Given the description of an element on the screen output the (x, y) to click on. 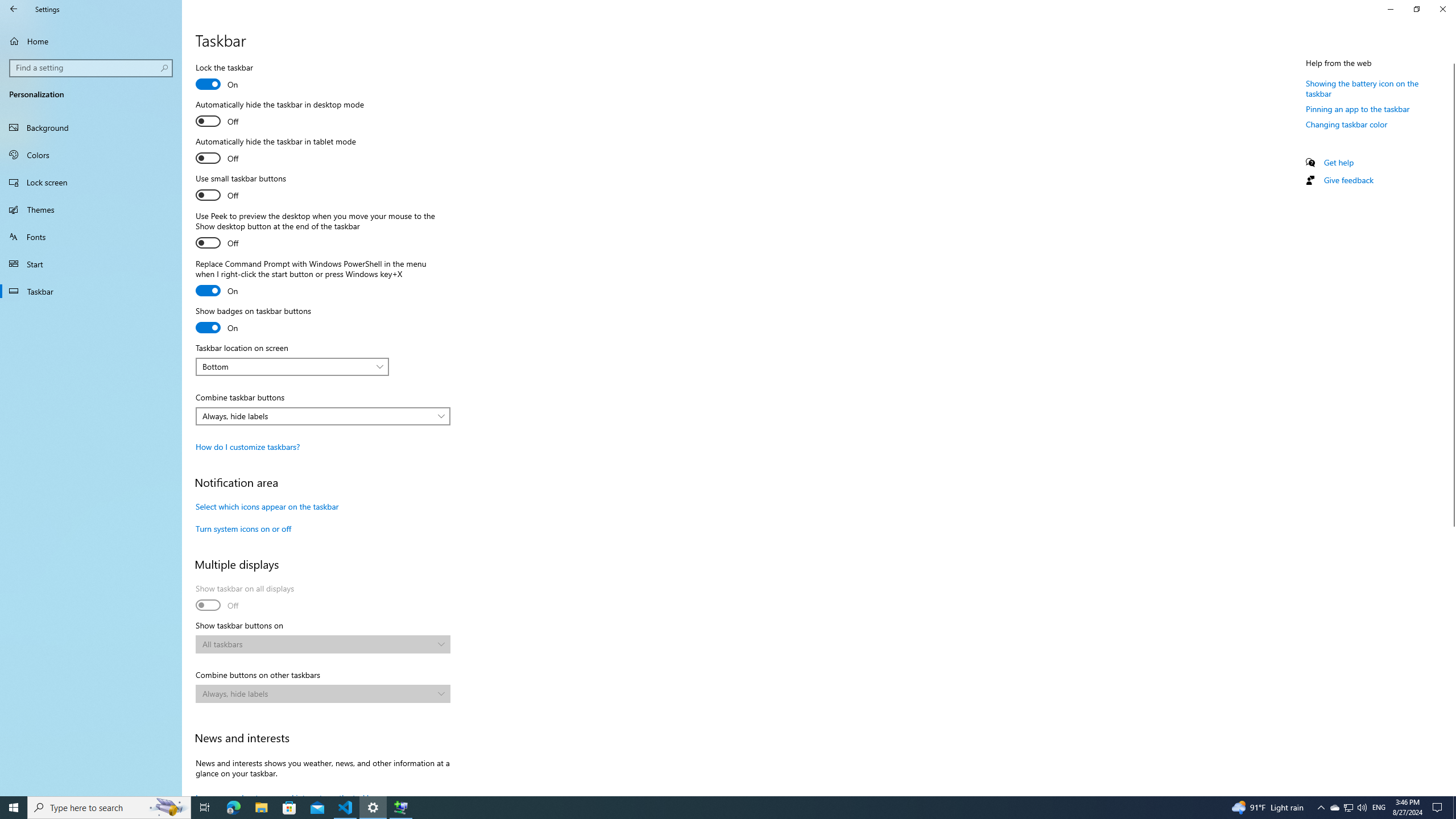
Settings - 1 running window (373, 807)
Combine buttons on other taskbars (322, 693)
Changing taskbar color (1346, 123)
Back (13, 9)
Give feedback (1348, 179)
Combine taskbar buttons (322, 416)
Vertical (1451, 425)
Select which icons appear on the taskbar (267, 506)
Show taskbar buttons on (322, 644)
Pinning an app to the taskbar (1357, 108)
